Given the description of an element on the screen output the (x, y) to click on. 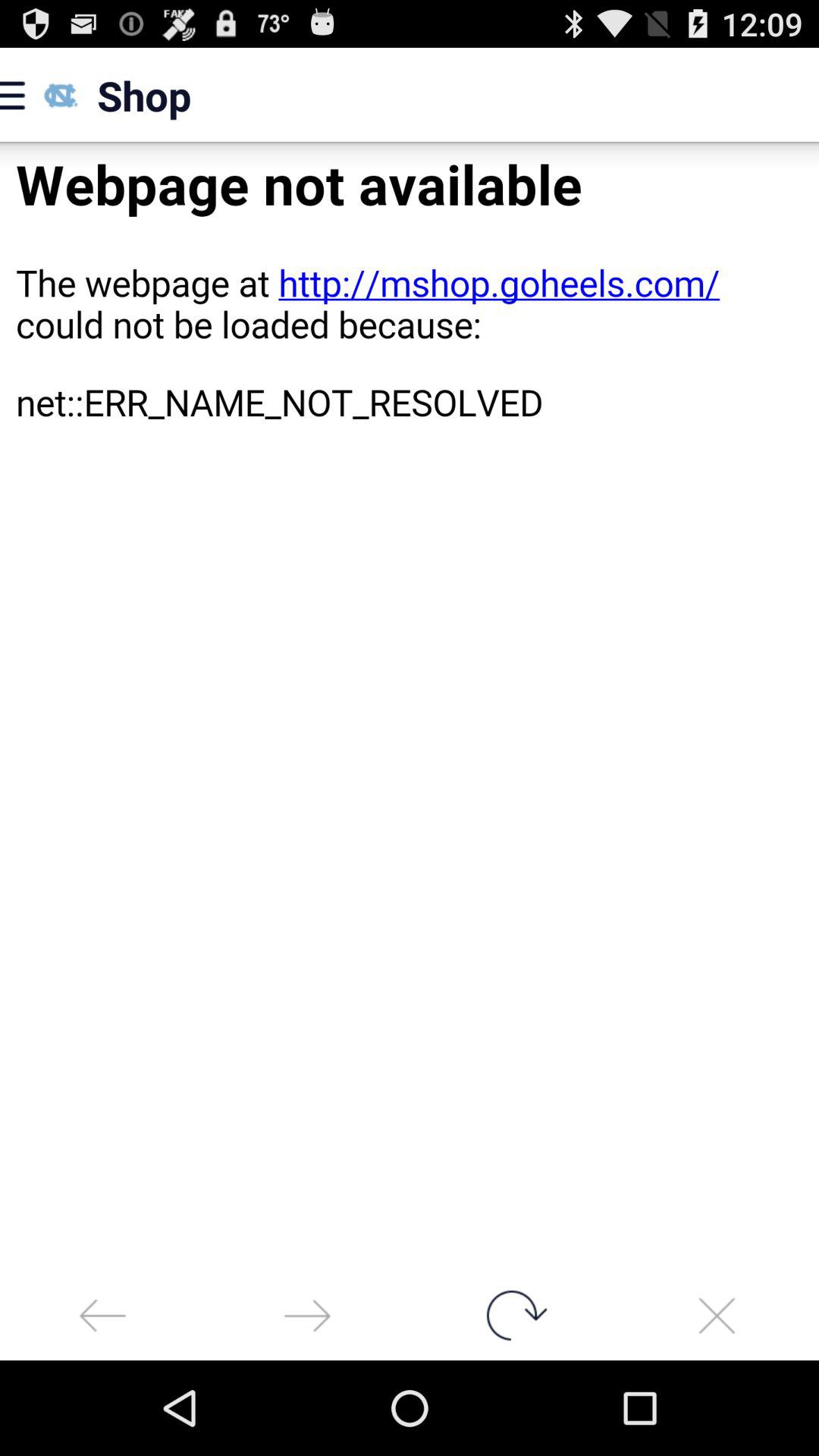
click the bottom left (102, 1315)
